Given the description of an element on the screen output the (x, y) to click on. 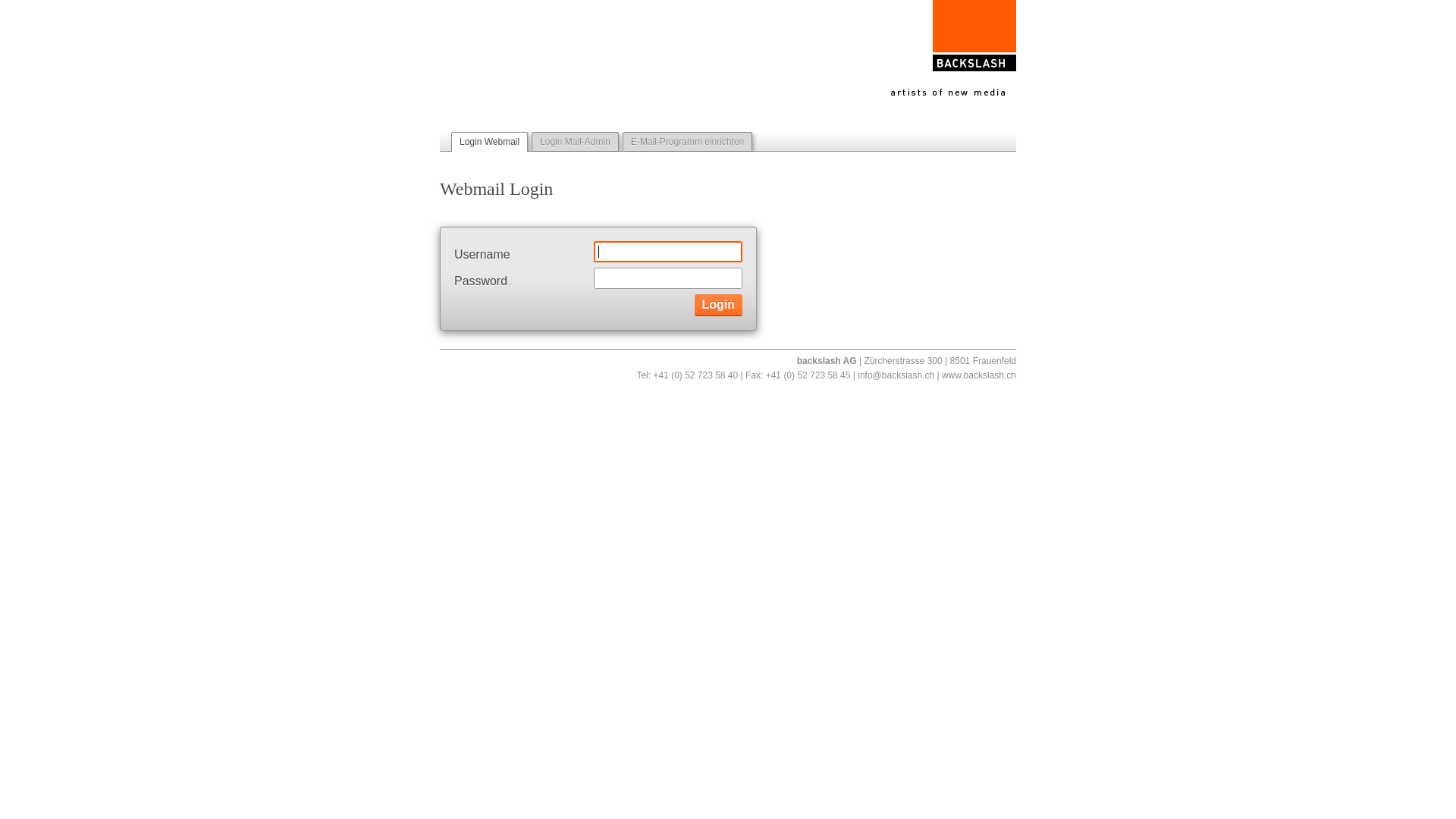
Login Element type: text (718, 305)
Login Mail-Admin Element type: text (574, 140)
Login Webmail Element type: text (489, 141)
info@backslash.ch Element type: text (895, 375)
www.backslash.ch Element type: text (978, 375)
E-Mail-Programm einrichten Element type: text (687, 140)
backslash AG Element type: text (953, 47)
